Given the description of an element on the screen output the (x, y) to click on. 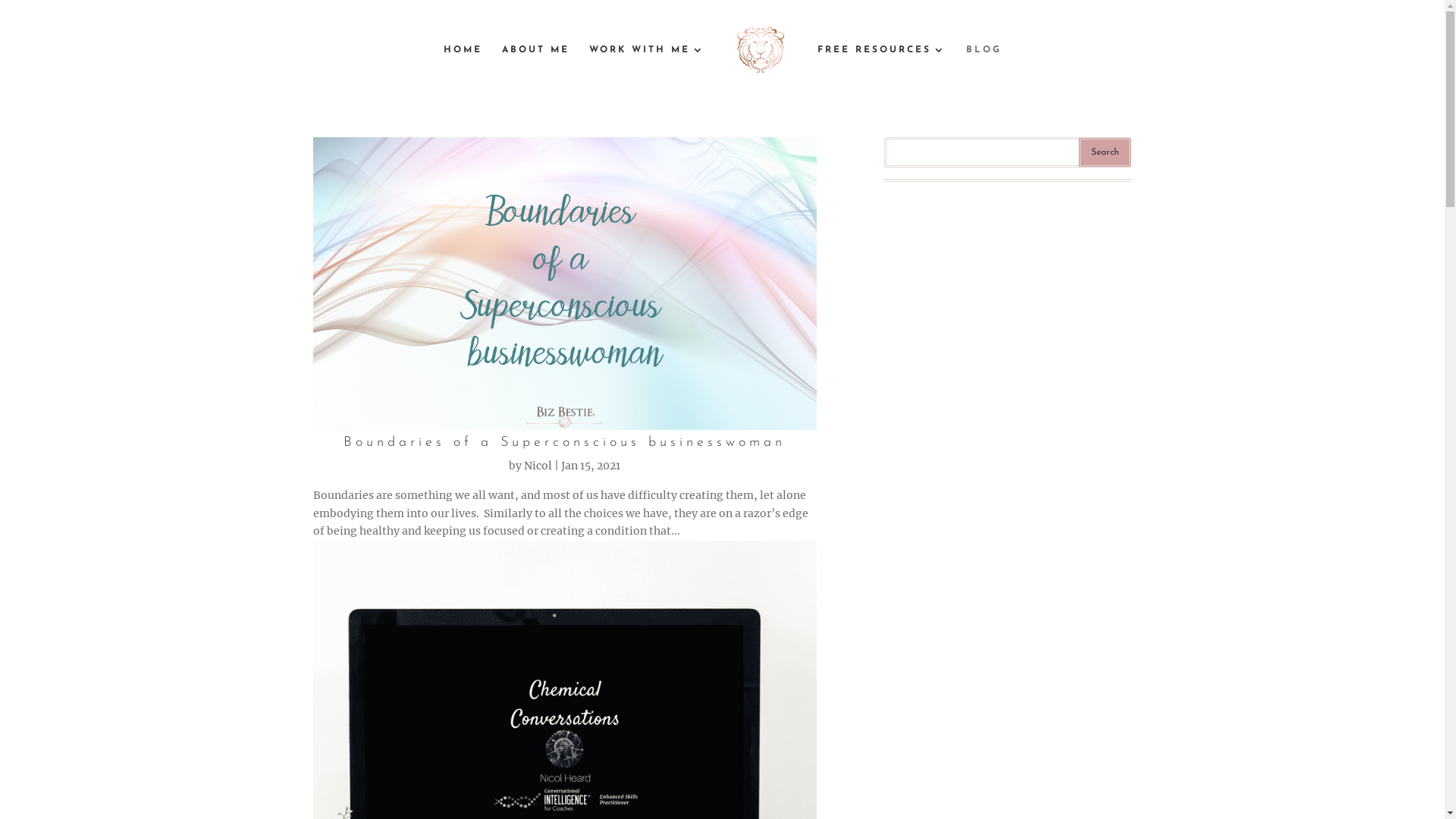
FREE RESOURCES Element type: text (881, 68)
WORK WITH ME Element type: text (646, 68)
Nicol Element type: text (538, 465)
Boundaries of a Superconscious businesswoman Element type: text (564, 442)
ABOUT ME Element type: text (535, 68)
BLOG Element type: text (983, 68)
Search Element type: text (1104, 152)
HOME Element type: text (461, 68)
